Given the description of an element on the screen output the (x, y) to click on. 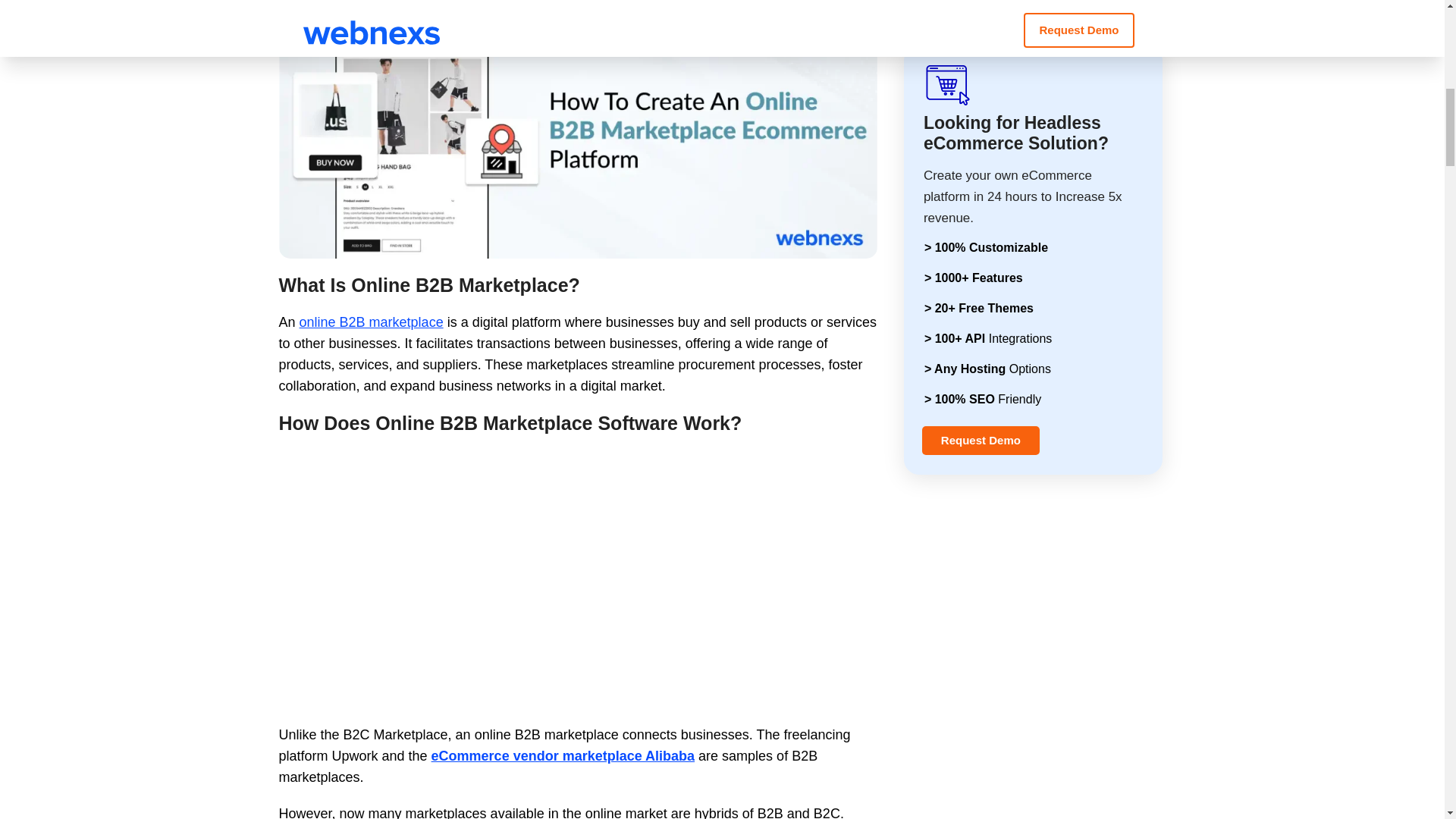
online B2B marketplace (371, 322)
eCommerce vendor marketplace Alibaba (562, 755)
